Given the description of an element on the screen output the (x, y) to click on. 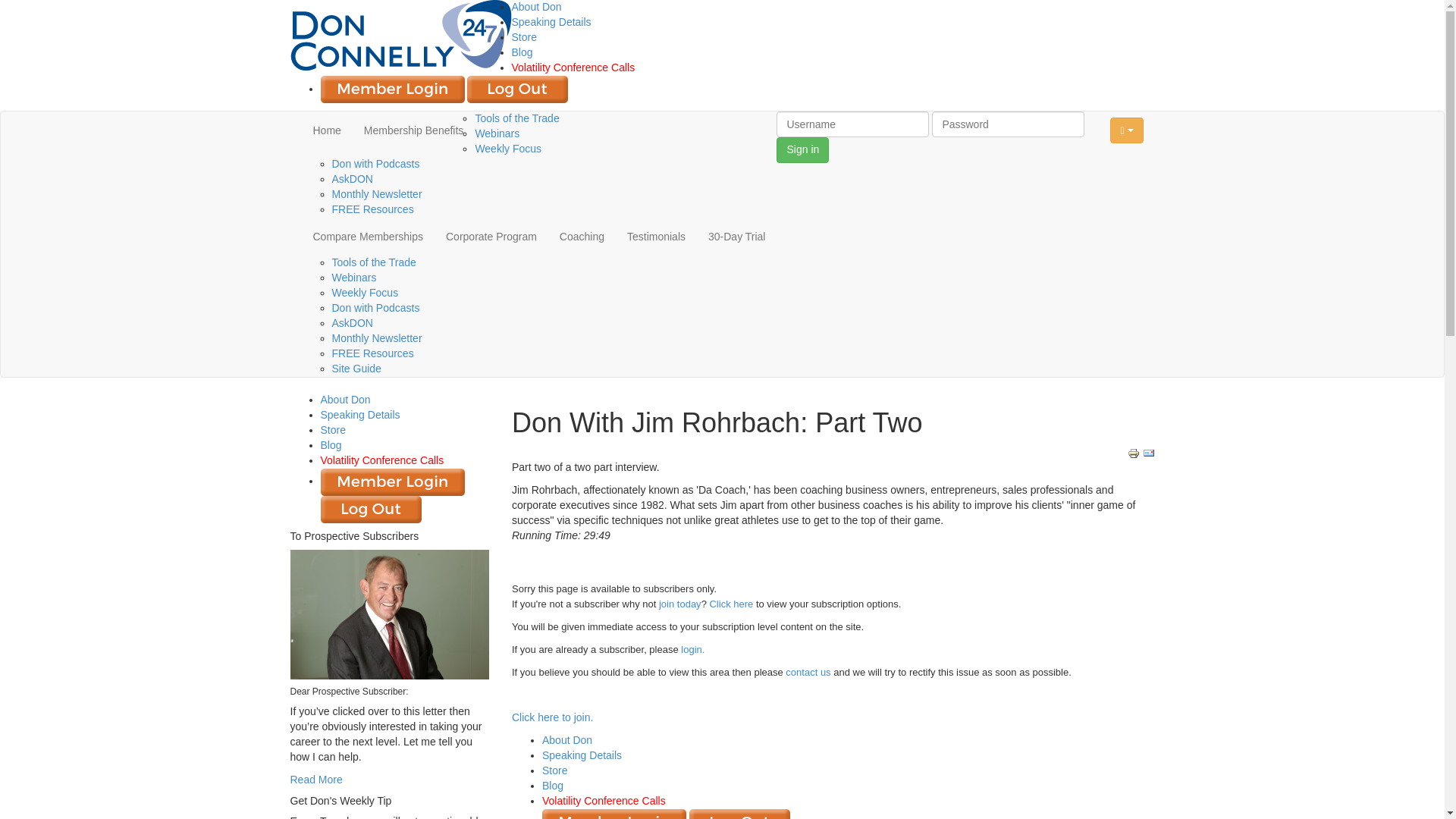
Testimonials (656, 236)
Send a summary of this page to someone via email. (1147, 453)
Tools of the Trade (516, 118)
About Don (535, 6)
Home (326, 130)
Webinars (496, 133)
Speaking Details (551, 21)
FREE Resources (372, 209)
AskDON (351, 178)
30-Day Trial (736, 236)
Contact (807, 672)
Coaching (581, 236)
Don with Podcasts (375, 163)
Corporate Program (490, 236)
Tools of the Trade (373, 262)
